Given the description of an element on the screen output the (x, y) to click on. 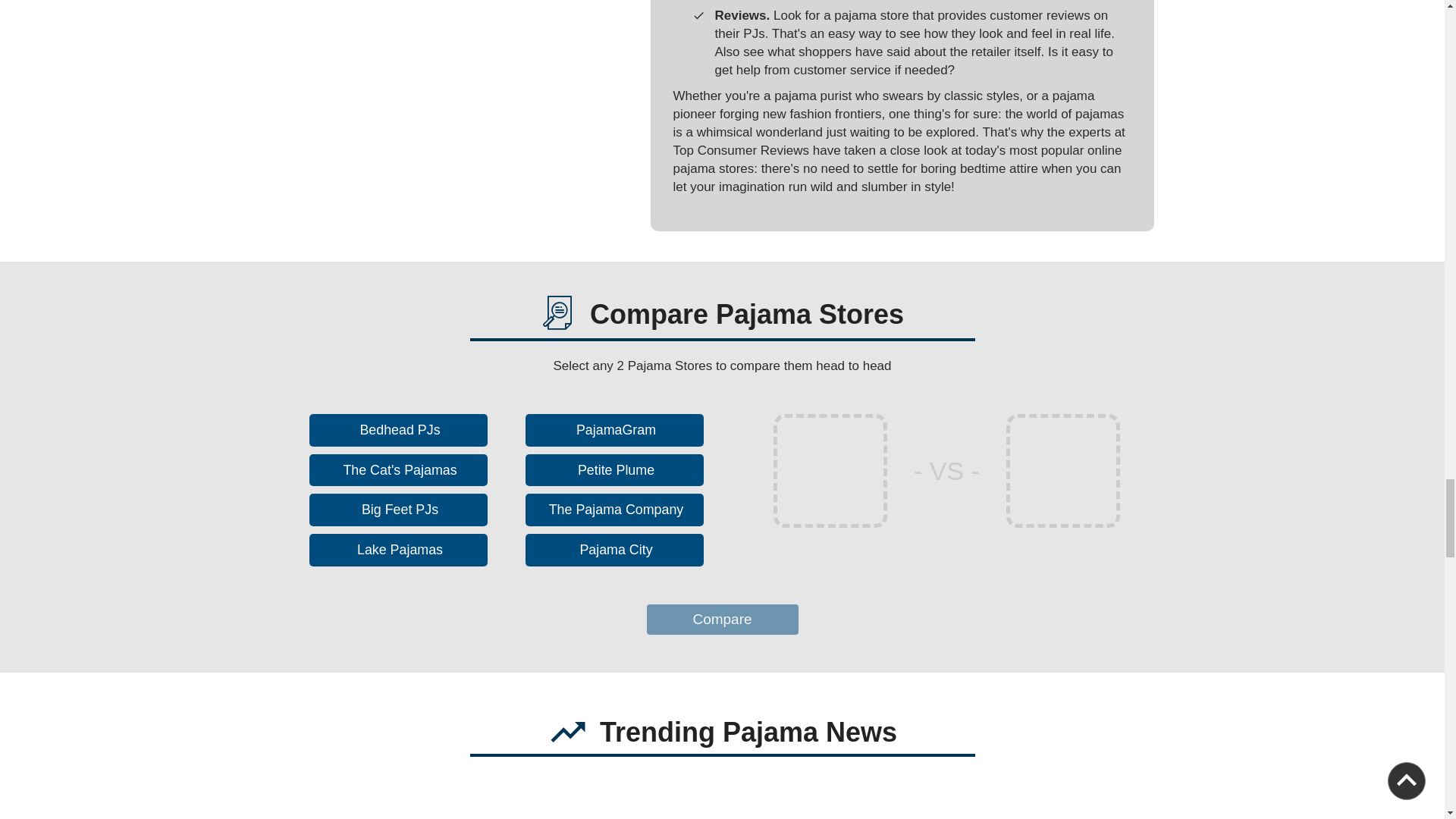
Compare (721, 619)
